Given the description of an element on the screen output the (x, y) to click on. 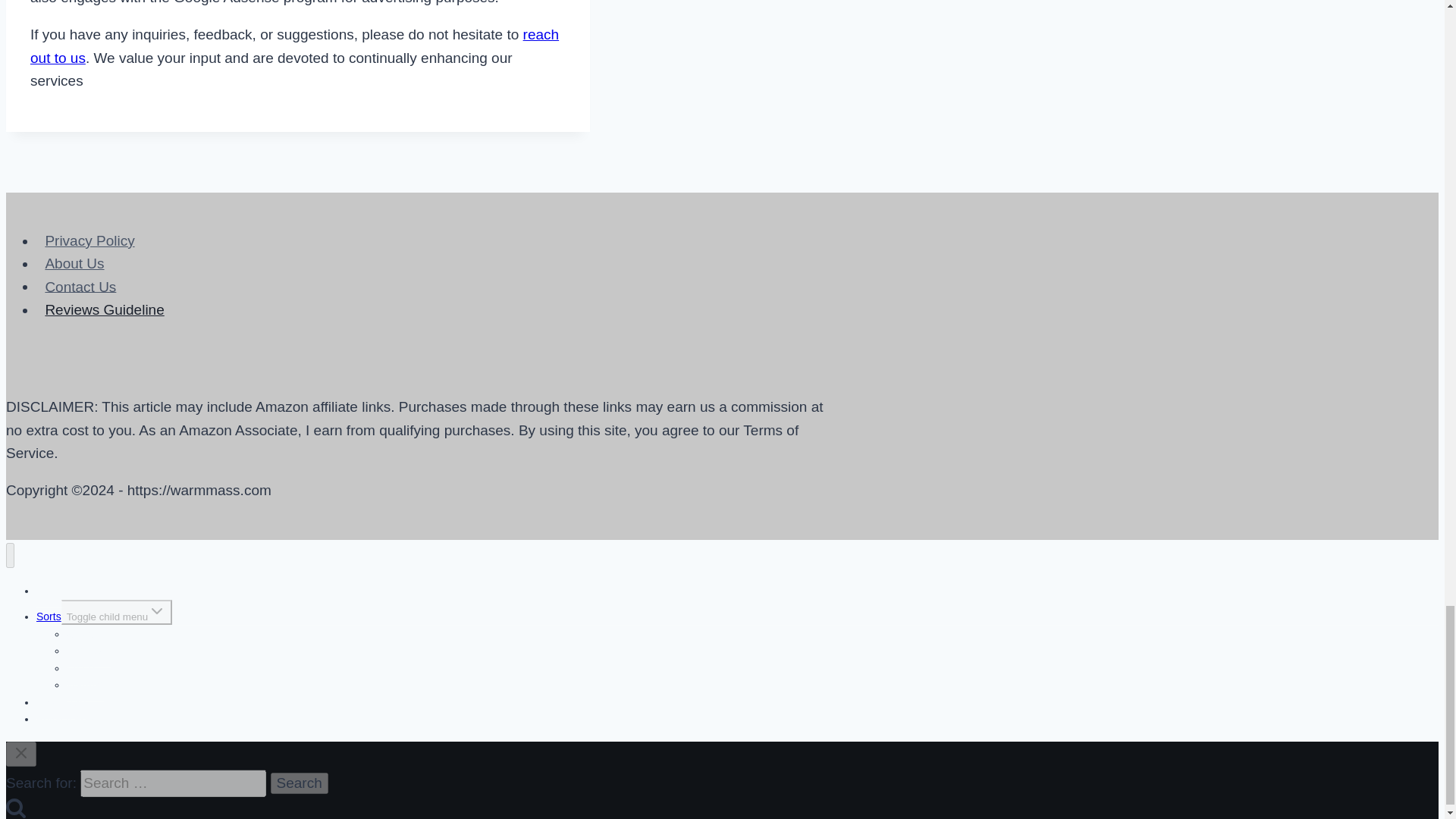
About Us (74, 262)
Toggle Menu Close (20, 754)
Fireplace (88, 650)
Search (298, 783)
reach out to us (294, 45)
Fire Pit (83, 668)
Toggle child menuExpand (116, 611)
Reviews Guideline (104, 309)
Search (298, 783)
Search (298, 783)
